Given the description of an element on the screen output the (x, y) to click on. 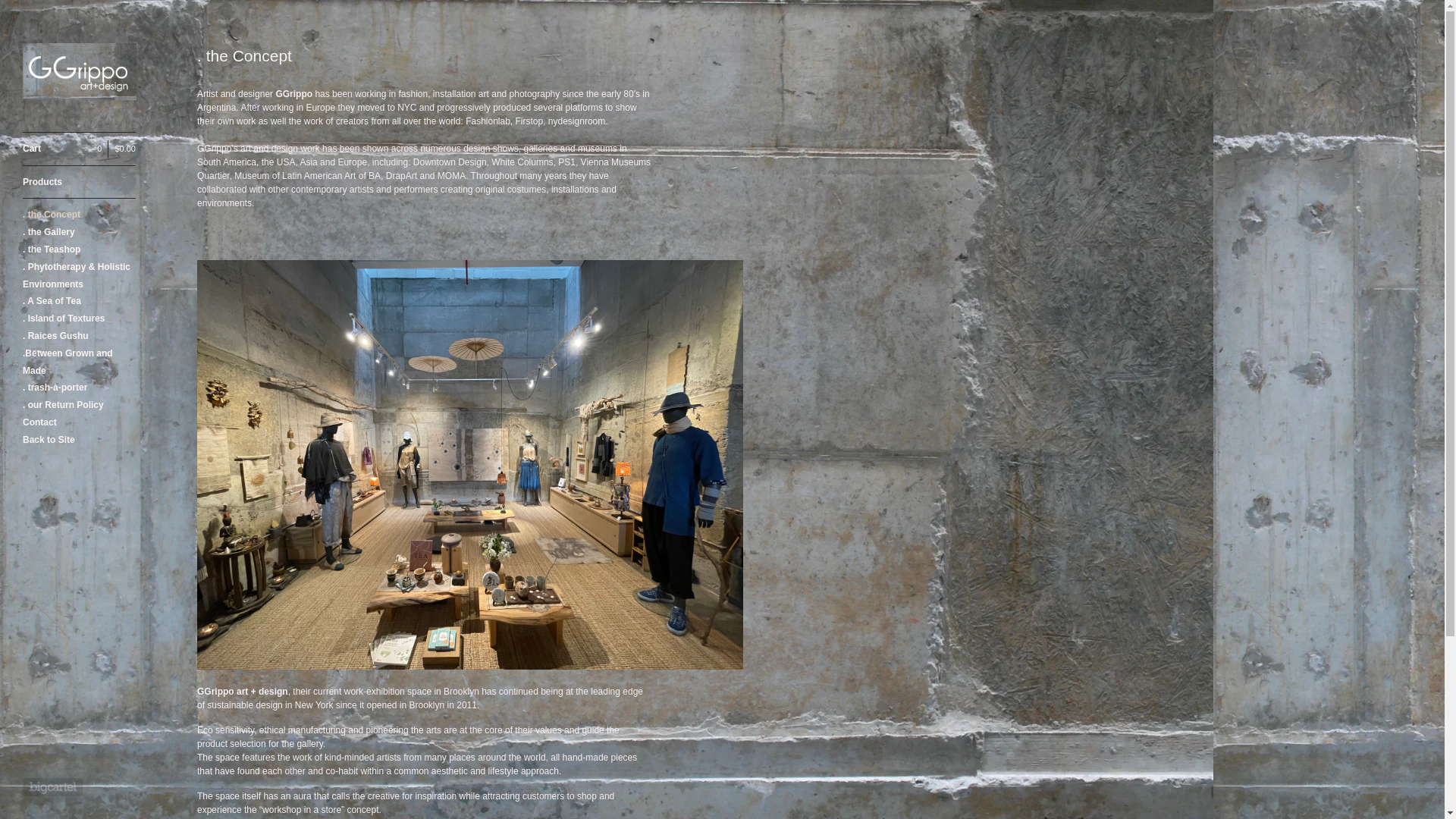
Products (79, 181)
Powered by Big Cartel (52, 787)
. the Teashop (79, 249)
. Island of Textures (79, 318)
. our Return Policy (79, 405)
.Between Grown and Made (79, 362)
. Raices Gushu (79, 335)
Contact (79, 422)
. the Gallery (79, 231)
. A Sea of Tea (79, 301)
